Given the description of an element on the screen output the (x, y) to click on. 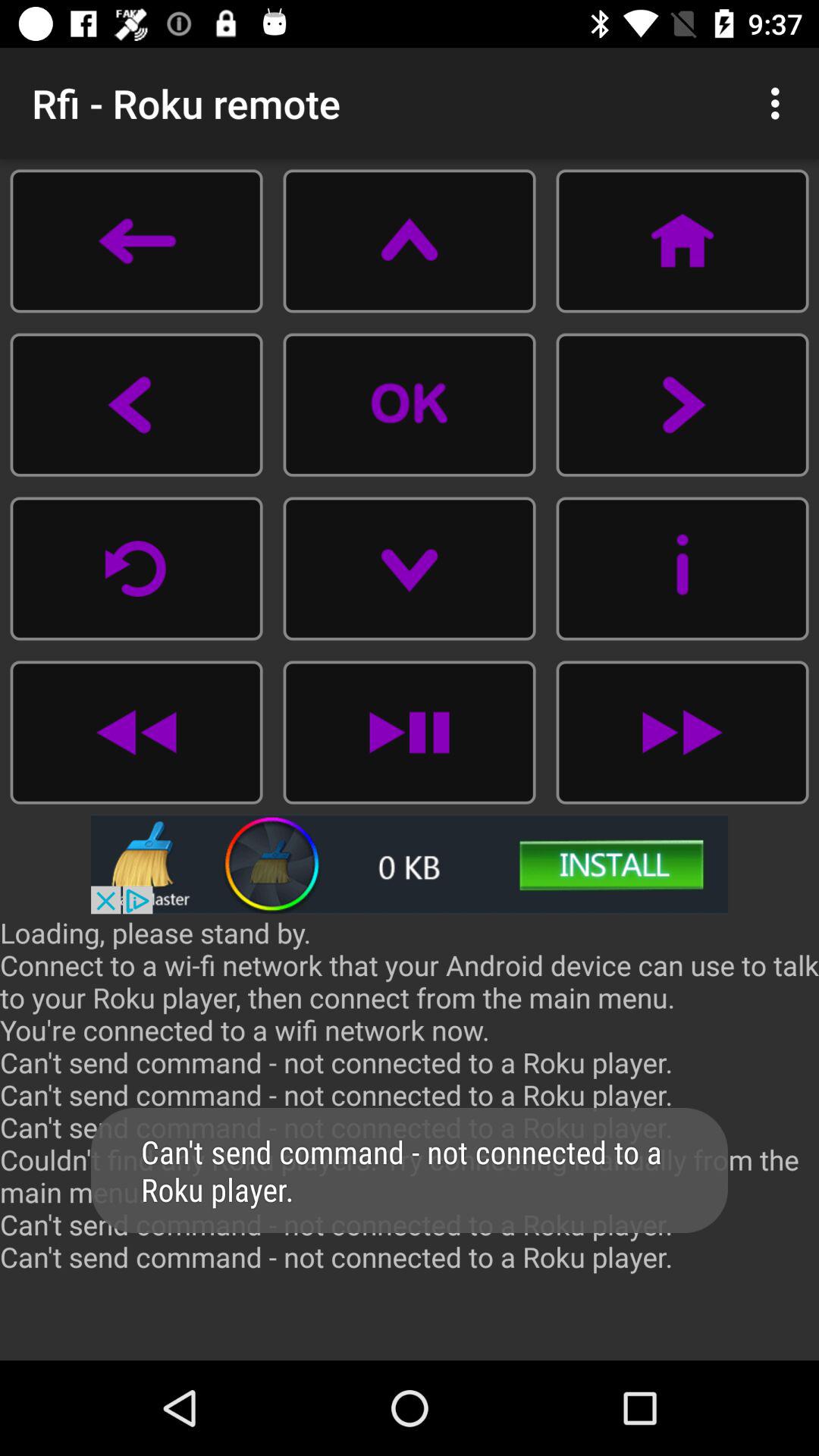
anti-clockwise rotation the article (136, 568)
